Given the description of an element on the screen output the (x, y) to click on. 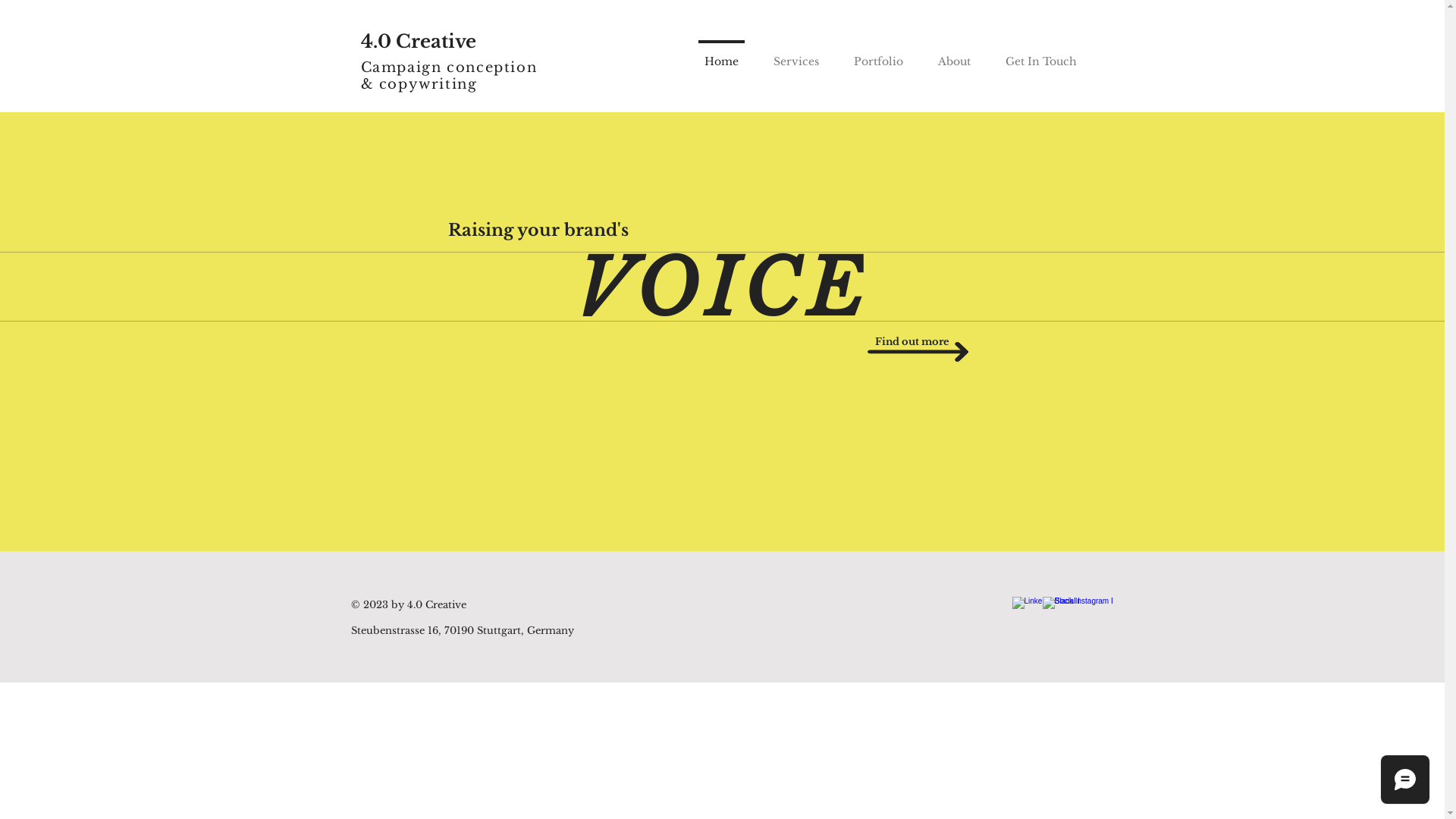
4.0 Creative Element type: text (418, 41)
Campaign conception
& copywriting Element type: text (448, 75)
Find out more Element type: text (912, 341)
Get In Touch Element type: text (1040, 54)
Home Element type: text (721, 54)
Portfolio Element type: text (877, 54)
Services Element type: text (795, 54)
About Element type: text (954, 54)
